Given the description of an element on the screen output the (x, y) to click on. 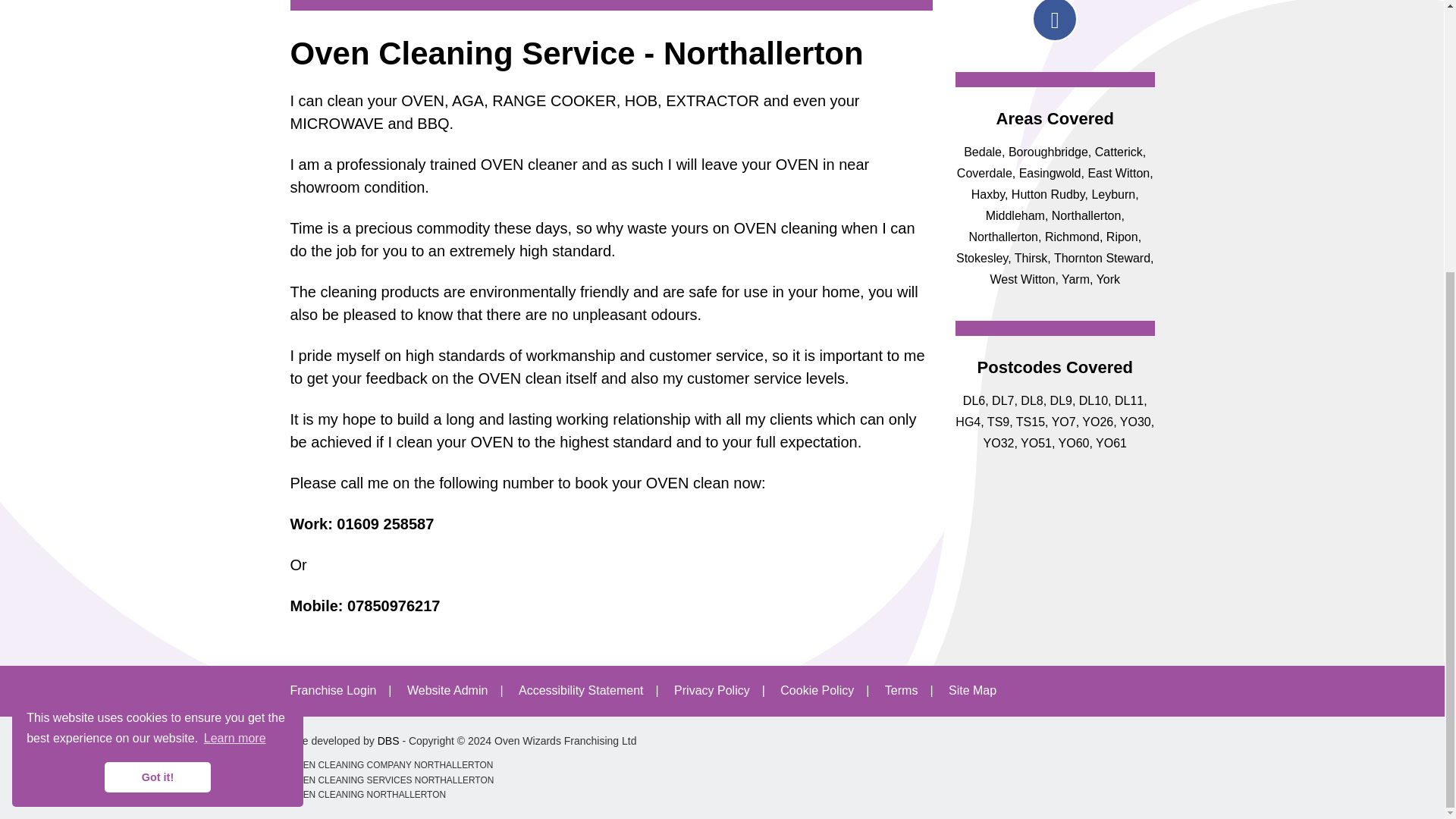
Learn more (234, 338)
Got it! (157, 377)
